Given the description of an element on the screen output the (x, y) to click on. 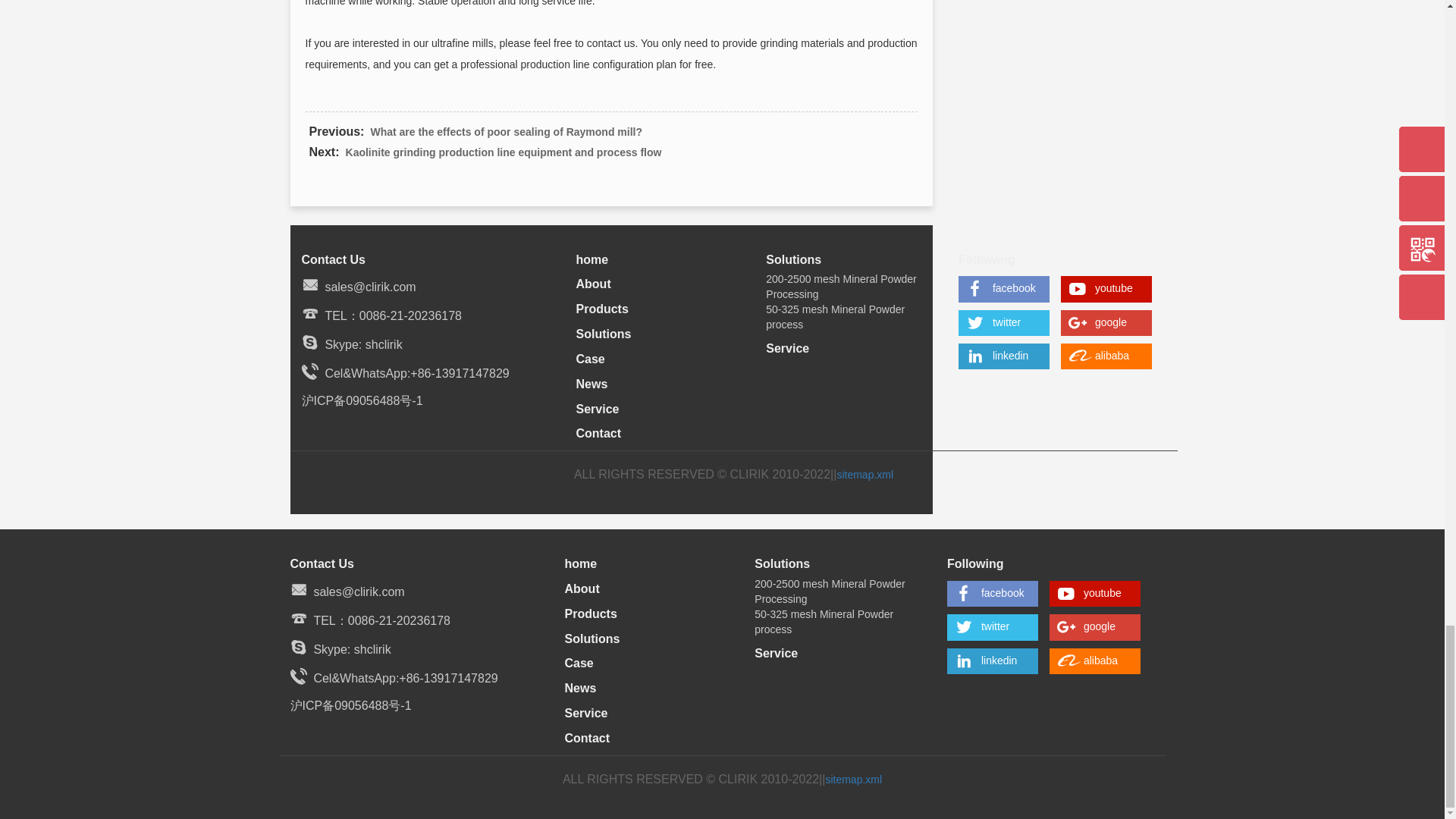
What are the effects of poor sealing of Raymond mill? (505, 131)
Contact Us (333, 258)
home (592, 258)
About (593, 283)
Products (602, 308)
